Given the description of an element on the screen output the (x, y) to click on. 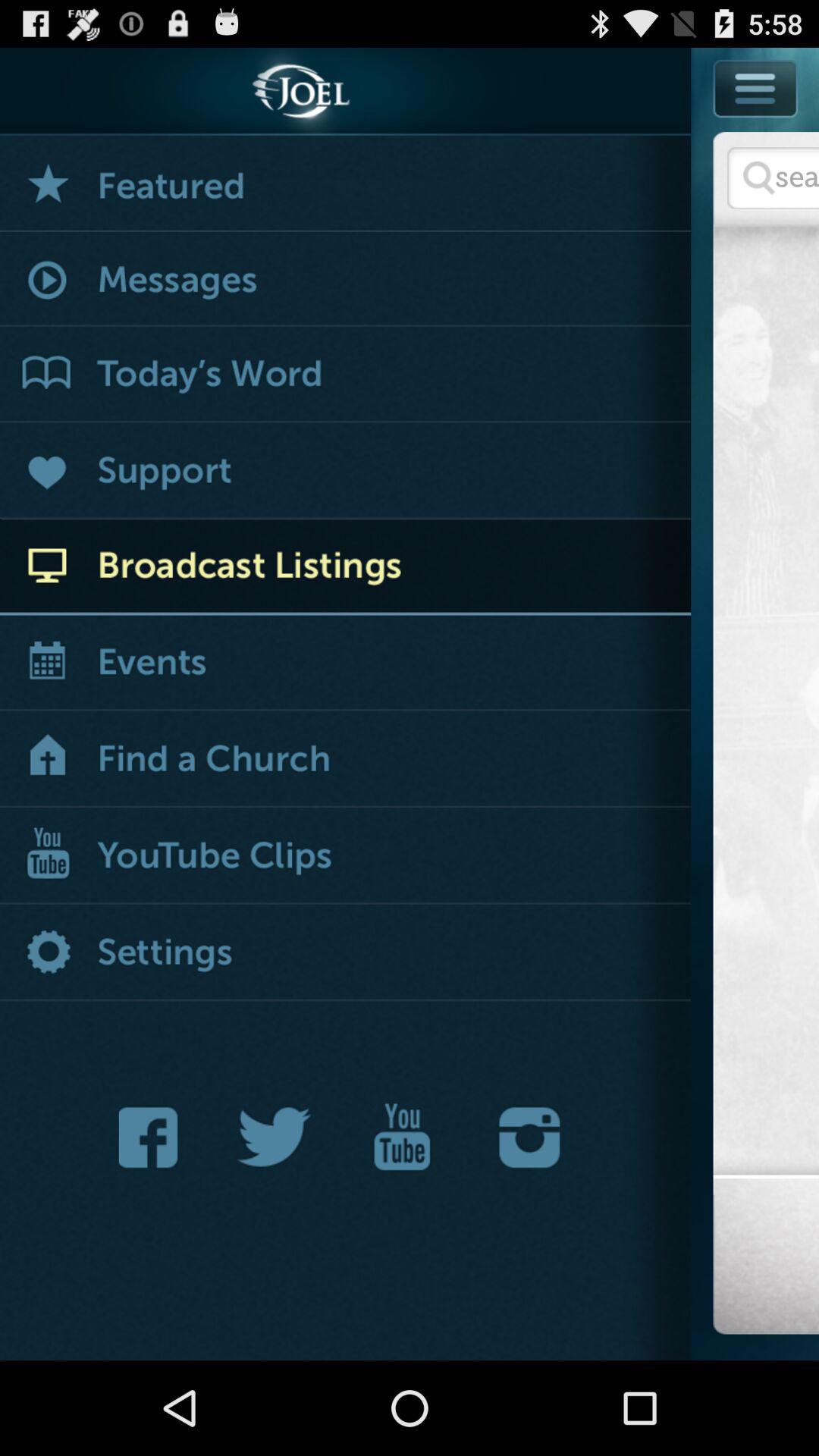
open to view (345, 566)
